Given the description of an element on the screen output the (x, y) to click on. 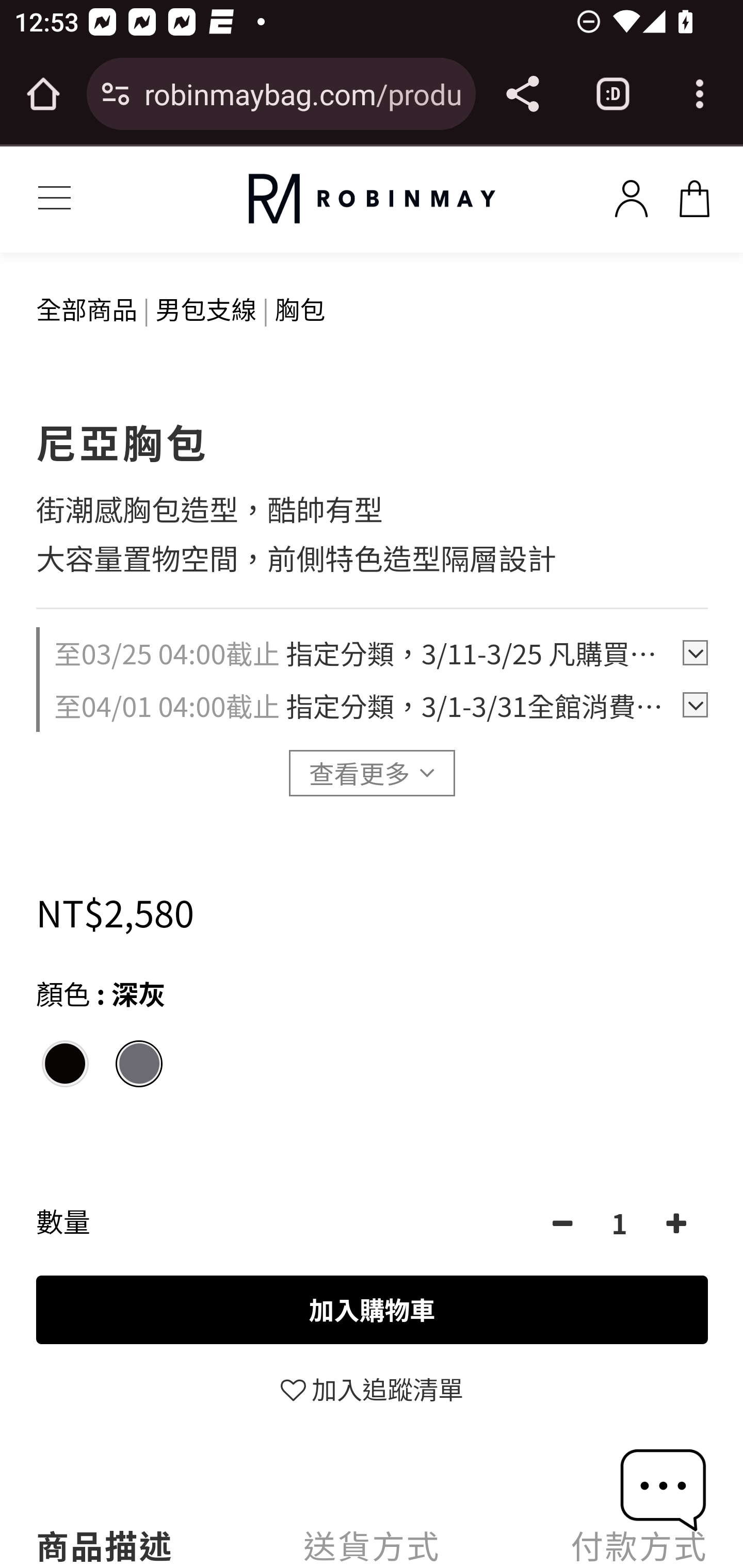
Open the home page (43, 93)
Connection is secure (115, 93)
Share (522, 93)
Switch or close tabs (612, 93)
Customize and control Google Chrome (699, 93)
original (371, 199)
x100 (631, 195)
x100 (694, 195)
全部商品 (87, 308)
男包支線 (206, 308)
胸包 (300, 308)
 (563, 1222)
1 (619, 1222)
 (675, 1222)
加入購物車 (372, 1309)
